Given the description of an element on the screen output the (x, y) to click on. 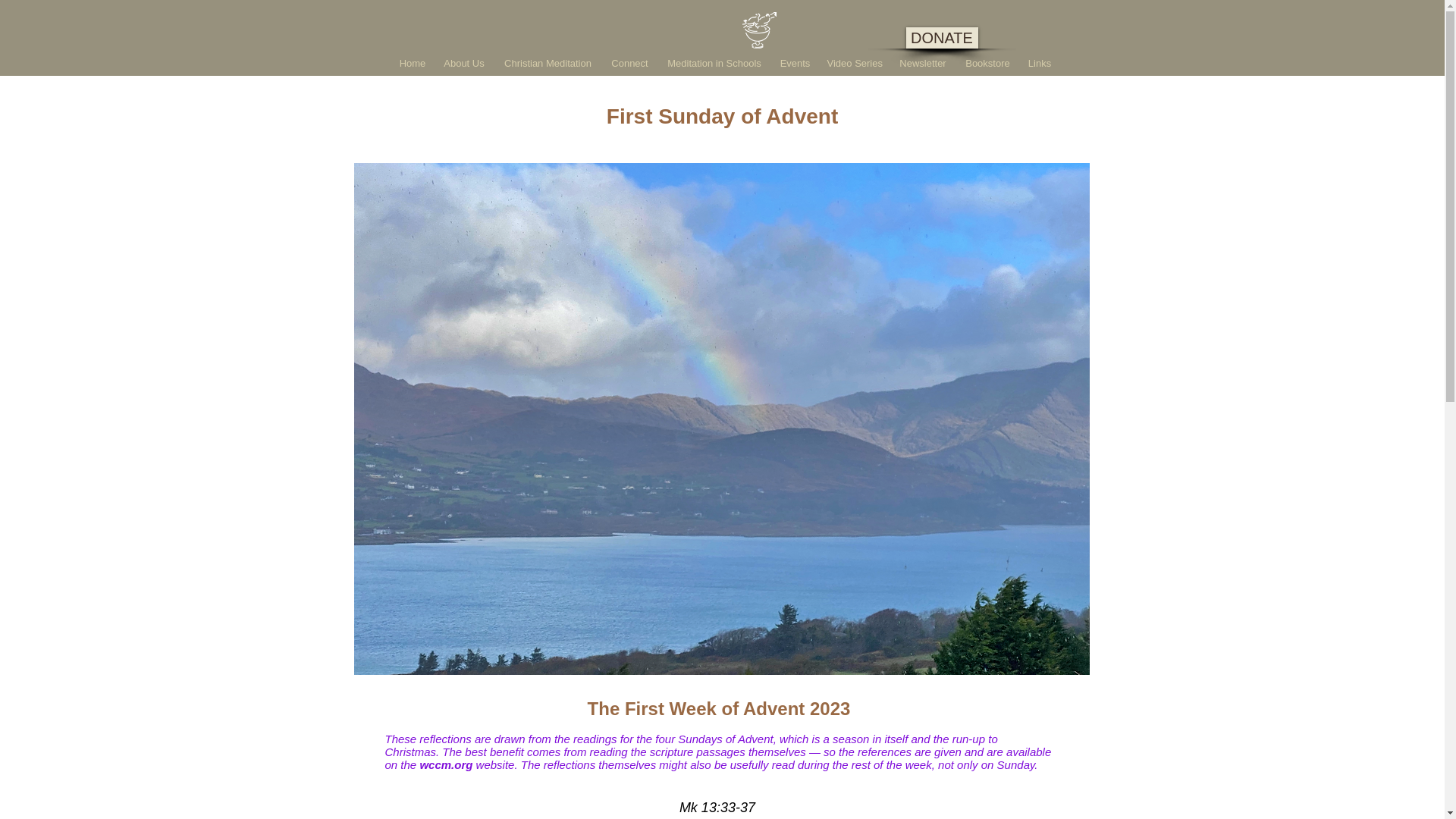
Meditation in Schools (713, 63)
wccm.org (445, 764)
Links (1039, 63)
Christian Meditation (547, 63)
Video Series (853, 63)
Newsletter (922, 63)
Events (794, 63)
Bookstore (987, 63)
Home (411, 63)
Connect (629, 63)
